Given the description of an element on the screen output the (x, y) to click on. 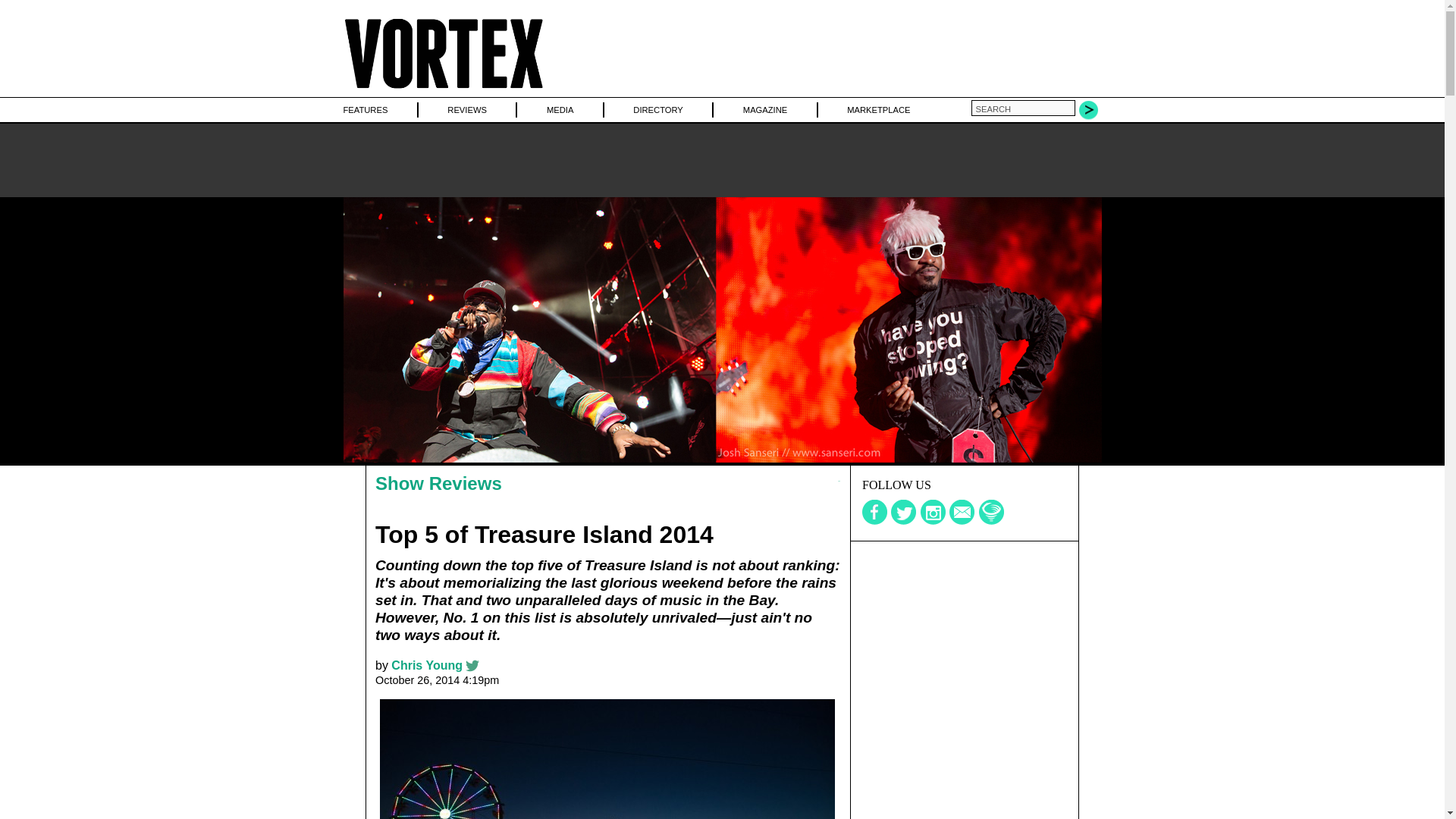
Chris Young (427, 665)
FEATURES (364, 109)
Show Reviews (438, 483)
3rd party ad content (721, 160)
search (1022, 107)
read more about Chris Young (427, 665)
MAGAZINE (764, 109)
MARKETPLACE (878, 109)
Home (442, 88)
REVIEWS (466, 109)
3rd party ad content (964, 780)
MEDIA (560, 109)
3rd party ad content (964, 636)
